Given the description of an element on the screen output the (x, y) to click on. 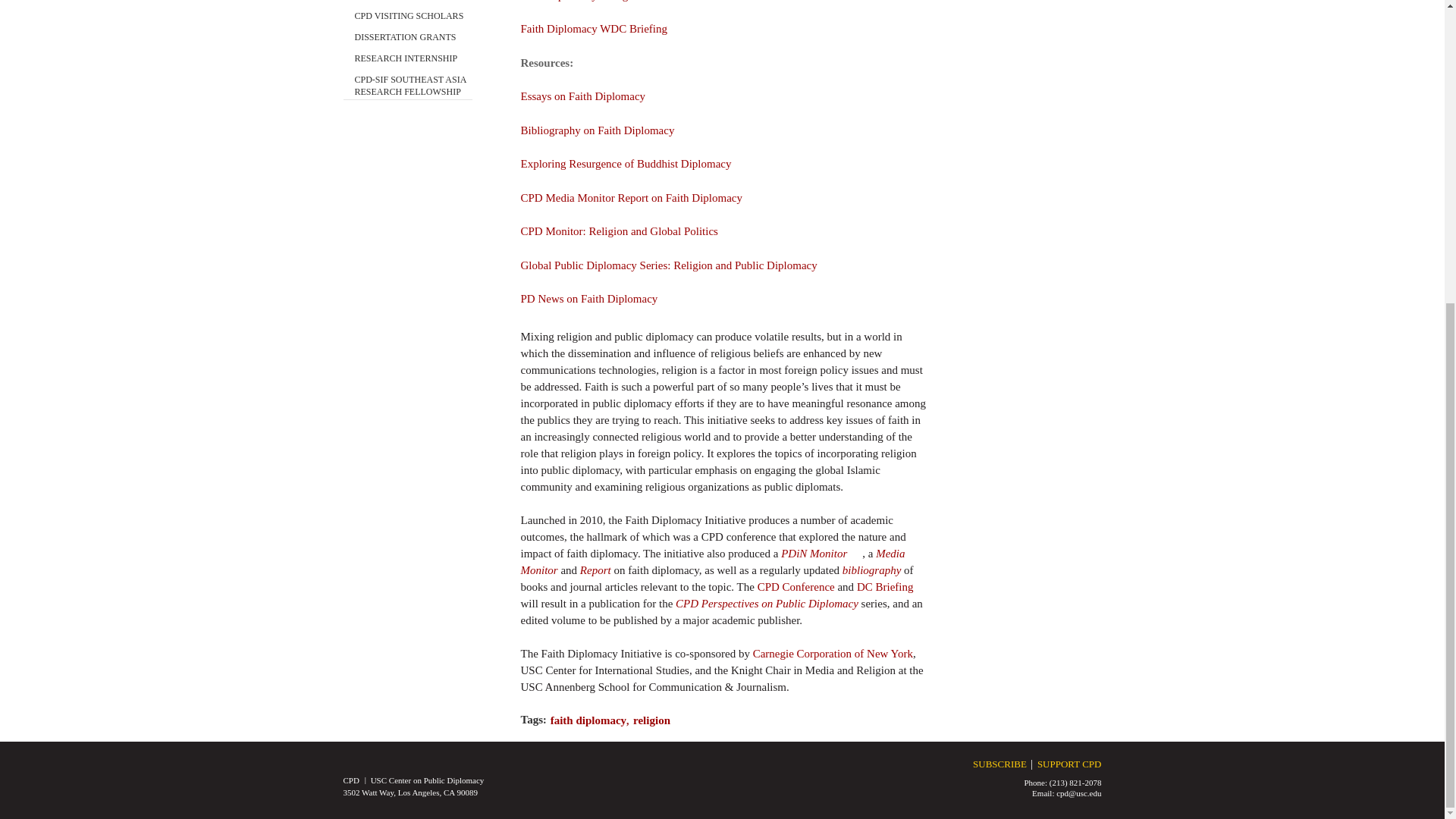
RESEARCH INTERNSHIP (406, 54)
DISSERTATION GRANTS (406, 33)
CPD-SIF SOUTHEAST ASIA RESEARCH FELLOWSHIP (413, 81)
CPD VISITING SCHOLARS (409, 12)
